Given the description of an element on the screen output the (x, y) to click on. 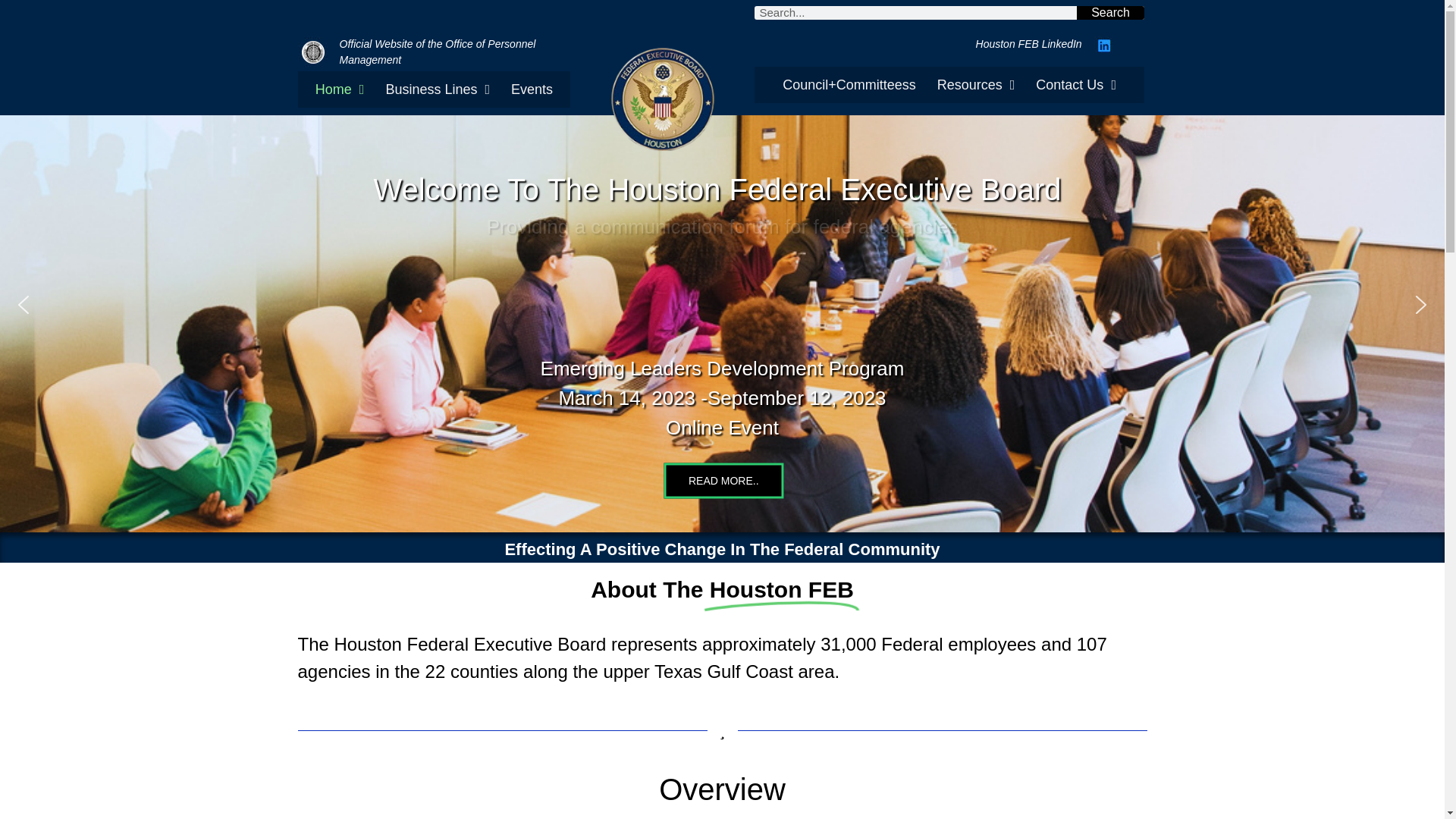
Official Website of the Office of Personnel Management (437, 51)
Houston FEB LinkedIn (1028, 43)
Events (531, 89)
Business Lines (437, 89)
Home (339, 89)
Search (1109, 12)
